Given the description of an element on the screen output the (x, y) to click on. 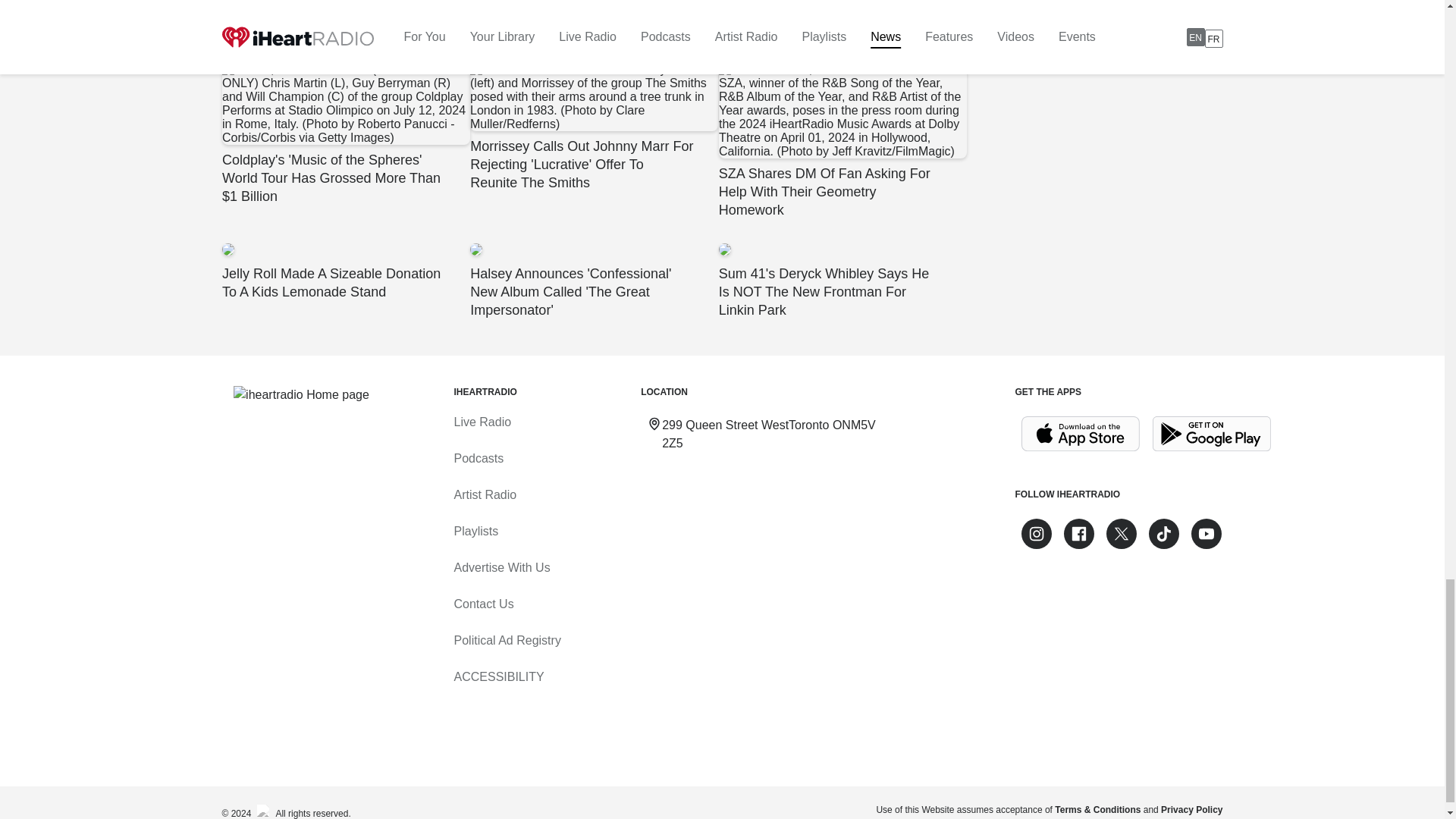
Artist Radio (484, 494)
Privacy Policy (1191, 809)
Live Radio (481, 421)
Podcasts (477, 458)
Jelly Roll Made A Sizeable Donation To A Kids Lemonade Stand (344, 272)
